Given the description of an element on the screen output the (x, y) to click on. 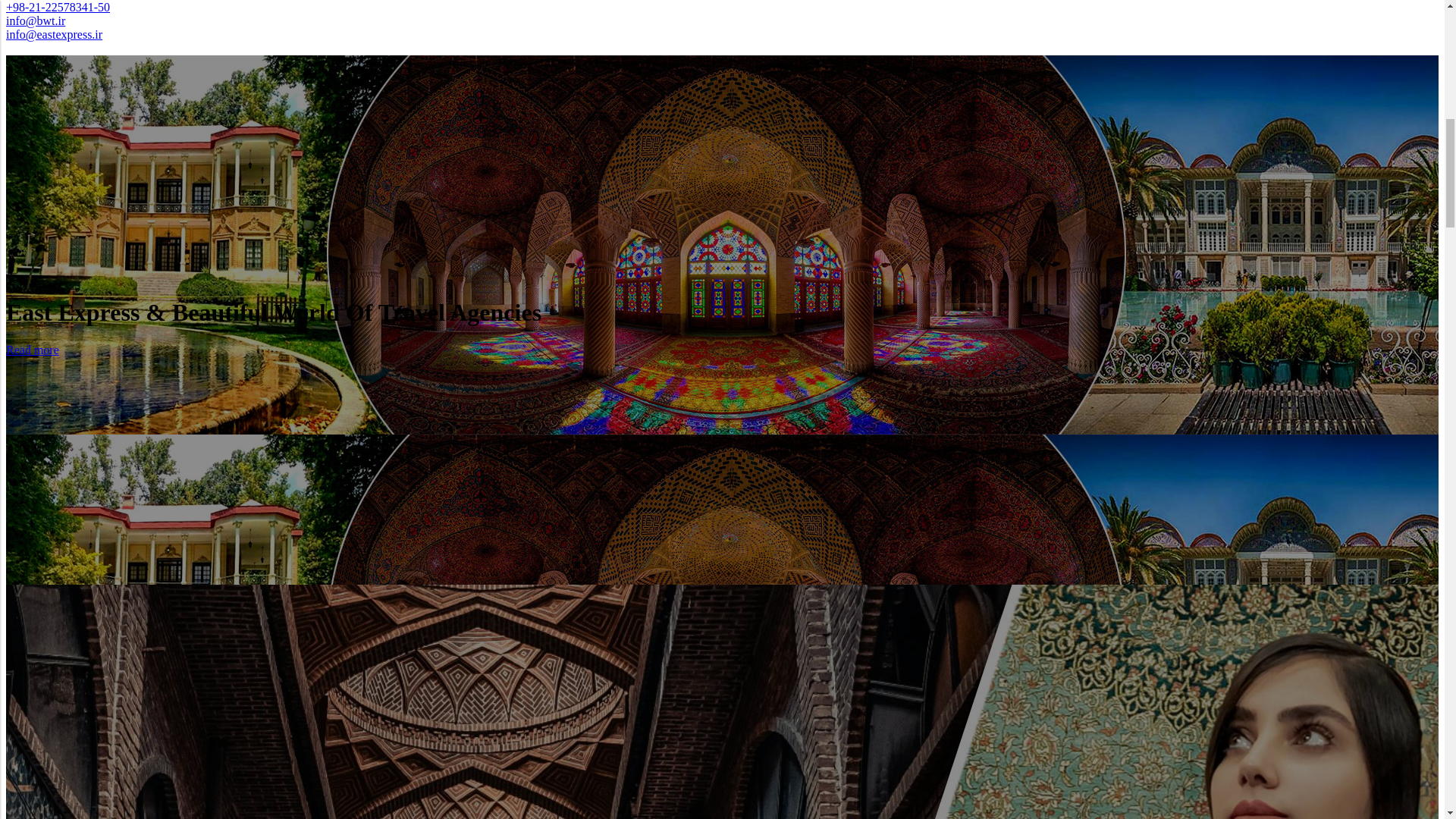
Read more (32, 349)
